Given the description of an element on the screen output the (x, y) to click on. 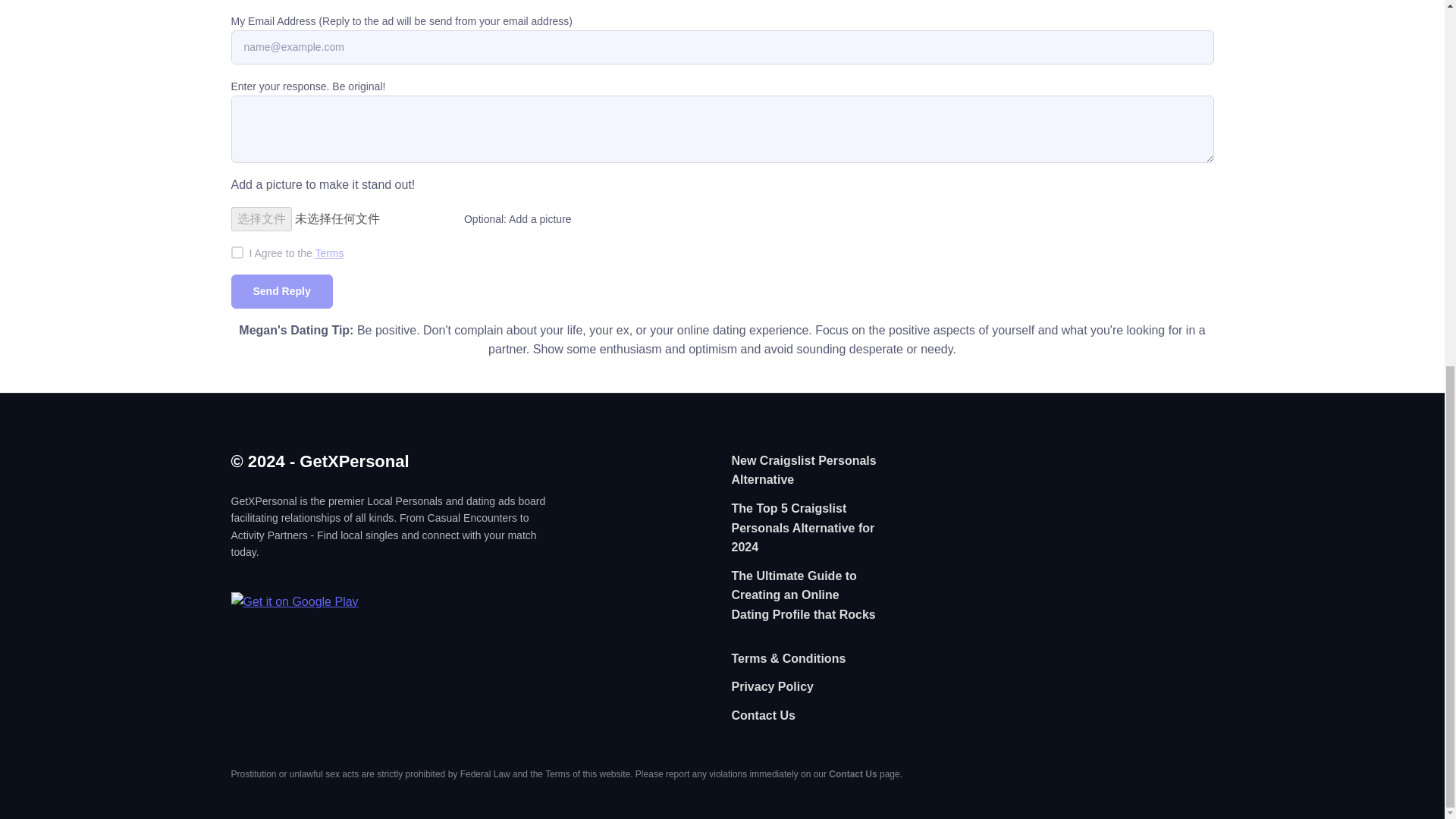
Privacy Policy (771, 688)
The Top 5 Craigslist Personals Alternative for 2024 (804, 529)
Contact Us (852, 774)
Send Reply (280, 290)
Contact Us (762, 717)
on (236, 252)
New Craigslist Personals Alternative (804, 471)
Terms (328, 253)
